Given the description of an element on the screen output the (x, y) to click on. 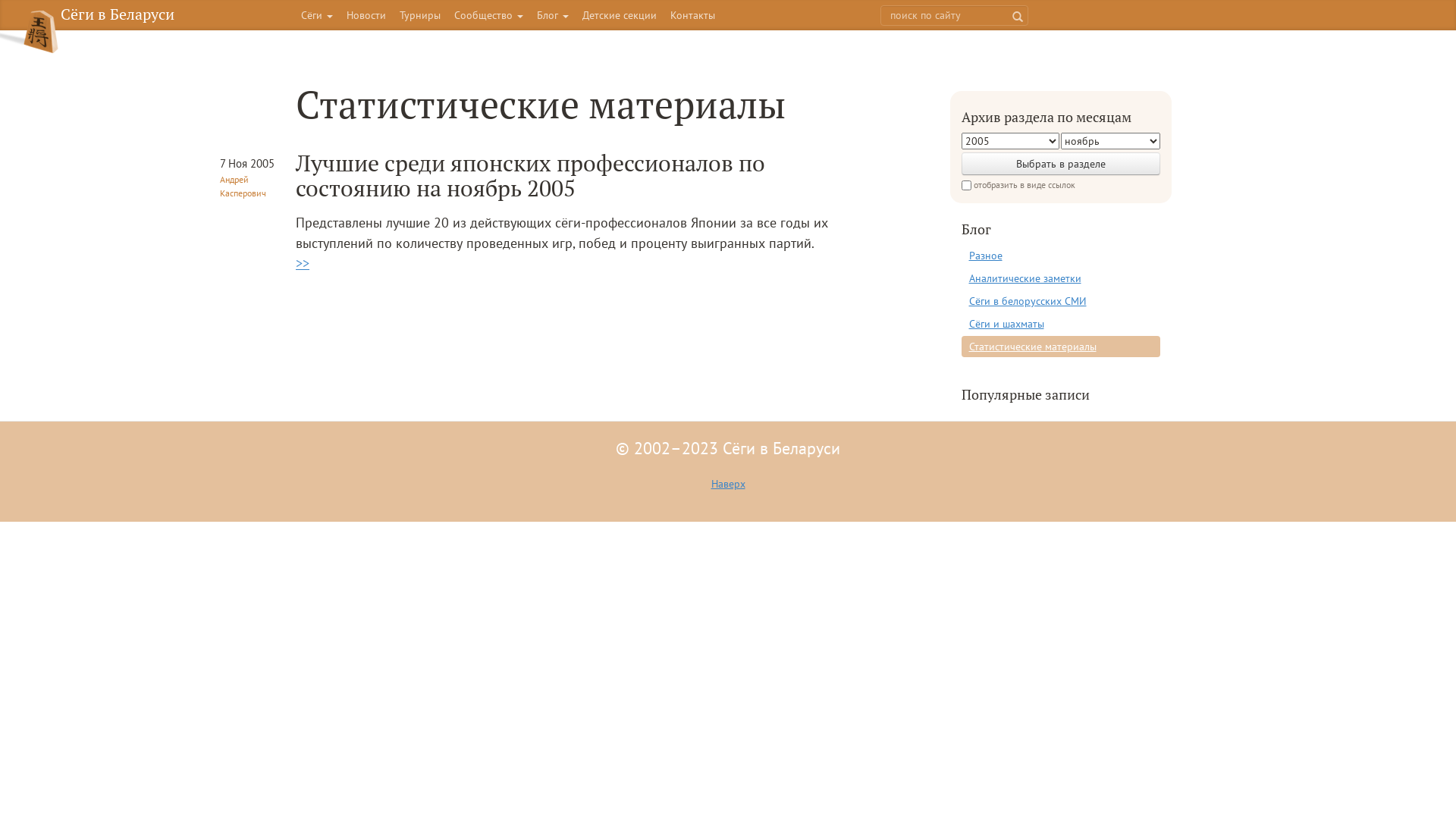
>> Element type: text (302, 263)
